Given the description of an element on the screen output the (x, y) to click on. 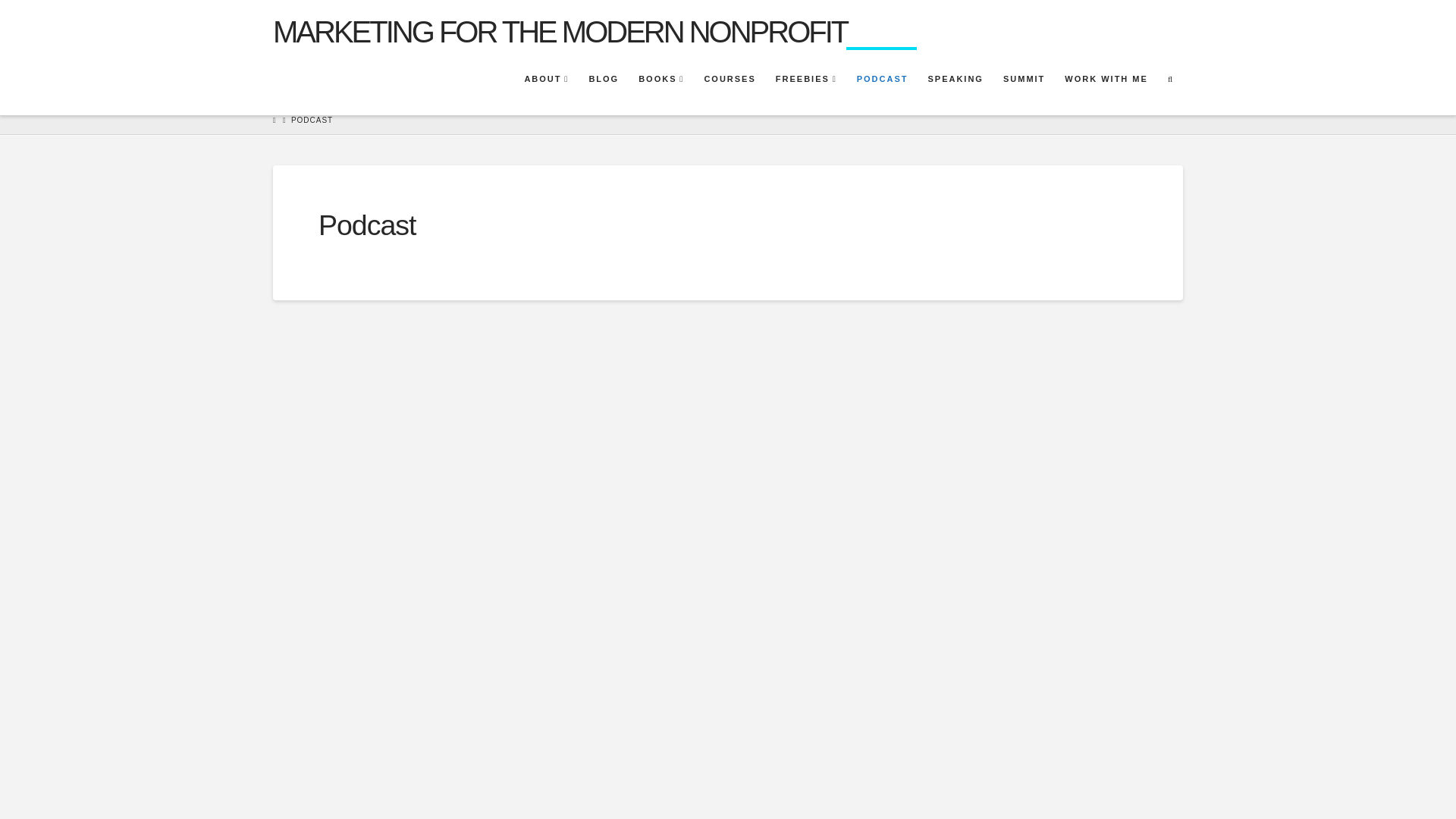
BOOKS (660, 80)
MARKETING FOR THE MODERN NONPROFIT (560, 31)
WORK WITH ME (1105, 80)
COURSES (728, 80)
FREEBIES (805, 80)
PODCAST (881, 80)
SPEAKING (954, 80)
SUMMIT (1023, 80)
ABOUT (545, 80)
